Given the description of an element on the screen output the (x, y) to click on. 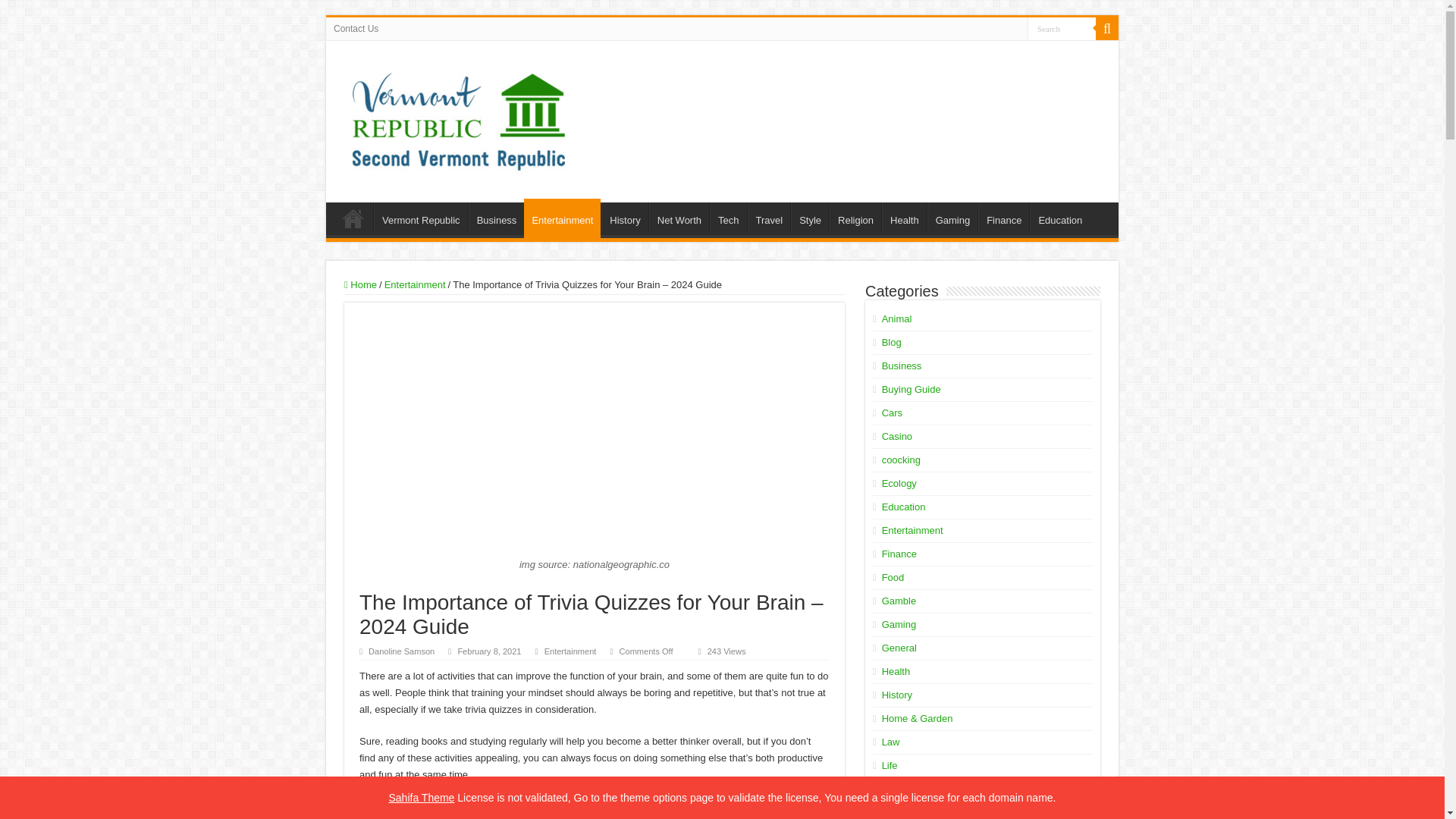
Entertainment (570, 651)
Net Worth (679, 218)
Entertainment (414, 284)
Search (1061, 28)
Home (352, 218)
Finance (1003, 218)
Contact Us (355, 28)
Search (1061, 28)
Vermont Republic (420, 218)
Home (360, 284)
Vermont Republic (458, 115)
Danoline Samson (400, 651)
Business (496, 218)
History (624, 218)
Health (904, 218)
